Given the description of an element on the screen output the (x, y) to click on. 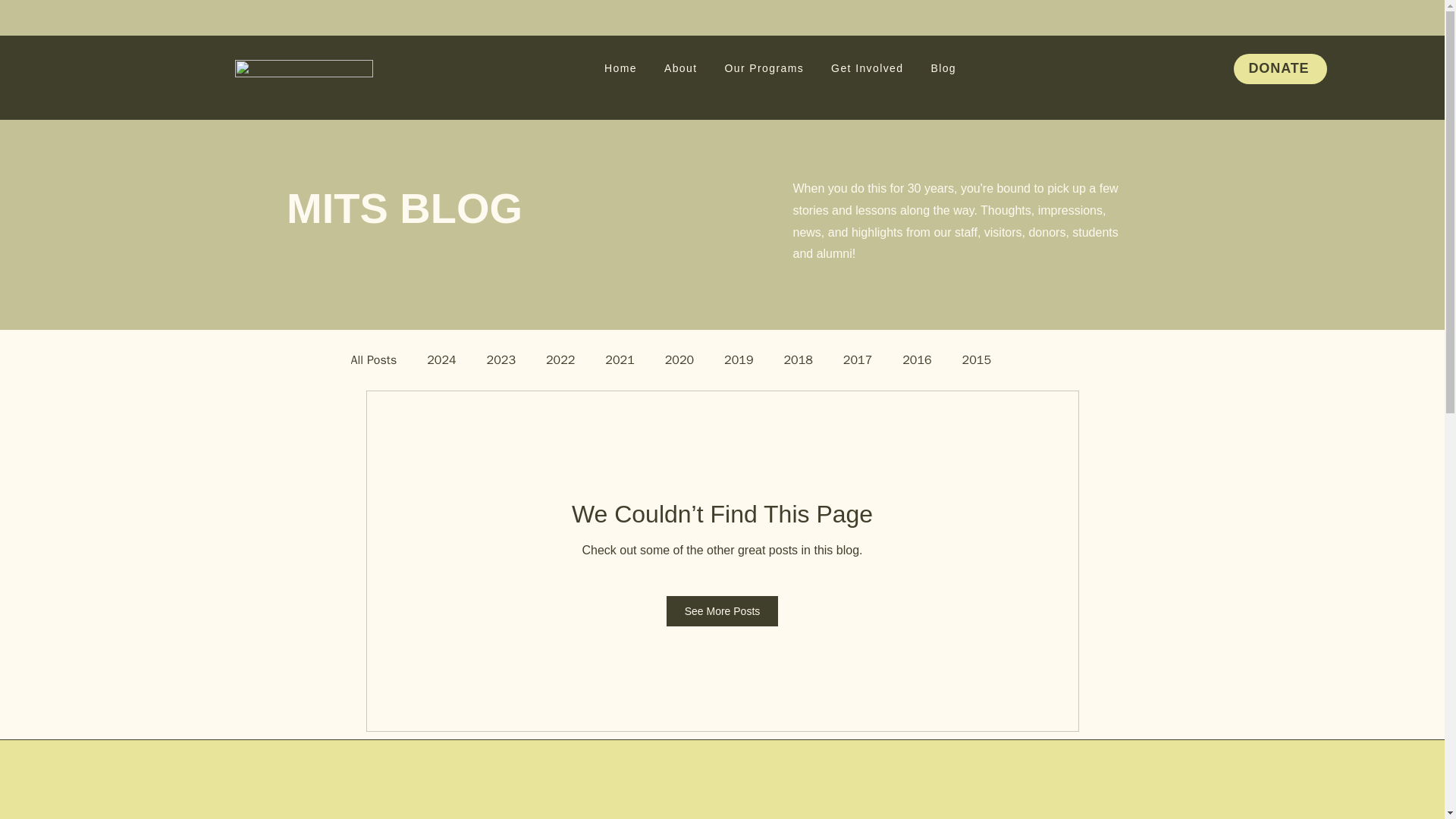
2018 (797, 360)
See More Posts (722, 611)
Home (620, 68)
2023 (500, 360)
2019 (737, 360)
Blog (943, 68)
DONATE (1279, 69)
2015 (976, 360)
2016 (916, 360)
Get Involved (866, 68)
